Given the description of an element on the screen output the (x, y) to click on. 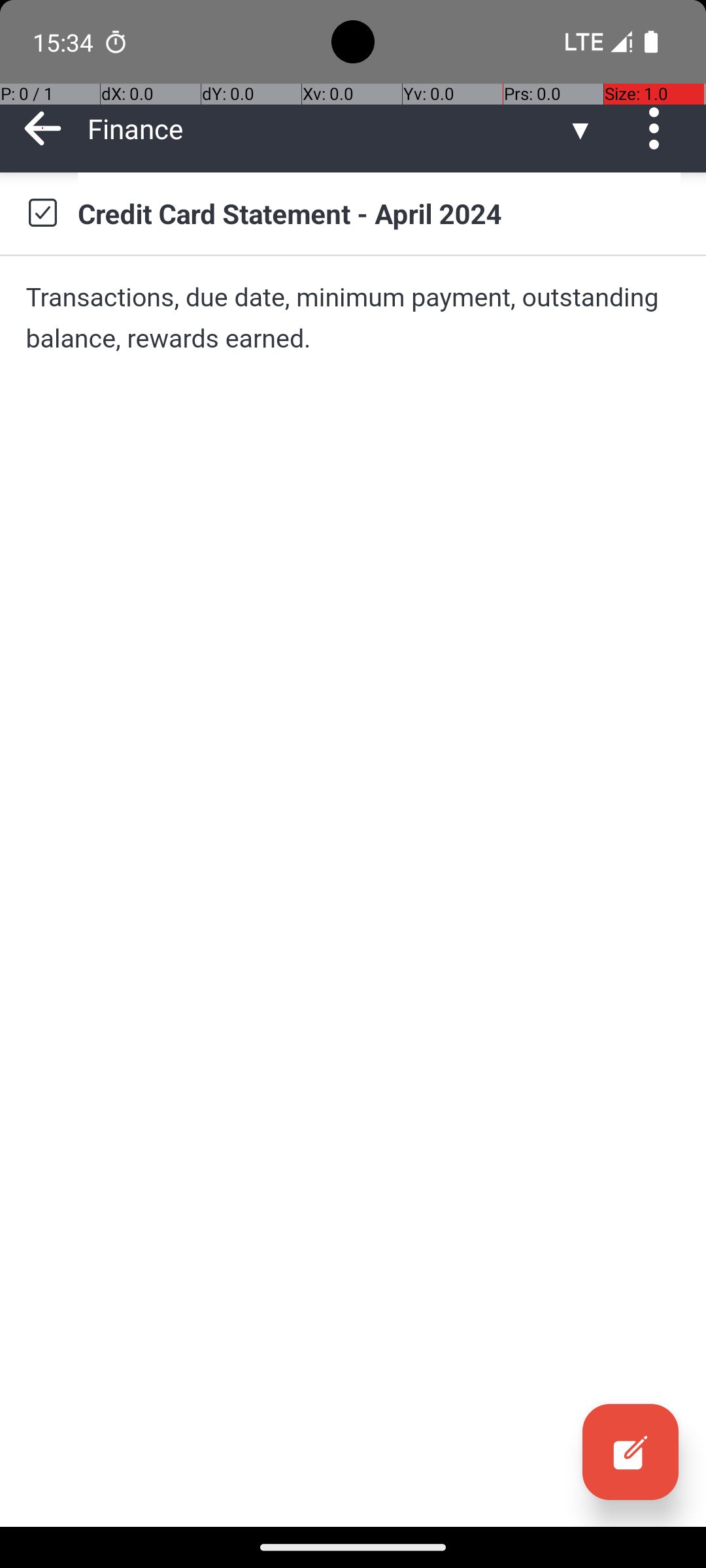
Credit Card Statement - April 2024 Element type: android.widget.EditText (378, 213)
Transactions, due date, minimum payment, outstanding balance, rewards earned. Element type: android.widget.TextView (352, 317)
